Given the description of an element on the screen output the (x, y) to click on. 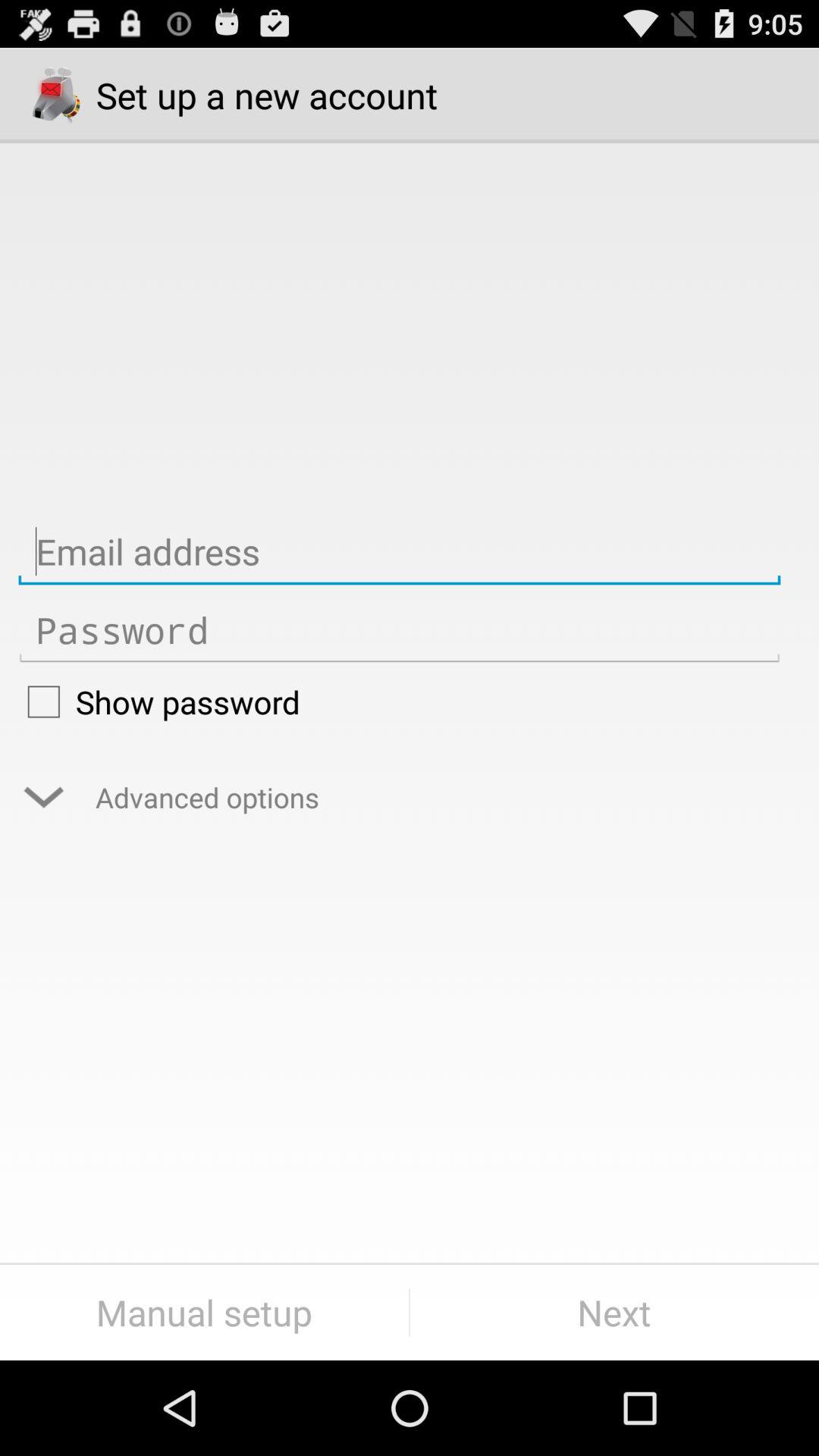
jump to show password icon (399, 701)
